Given the description of an element on the screen output the (x, y) to click on. 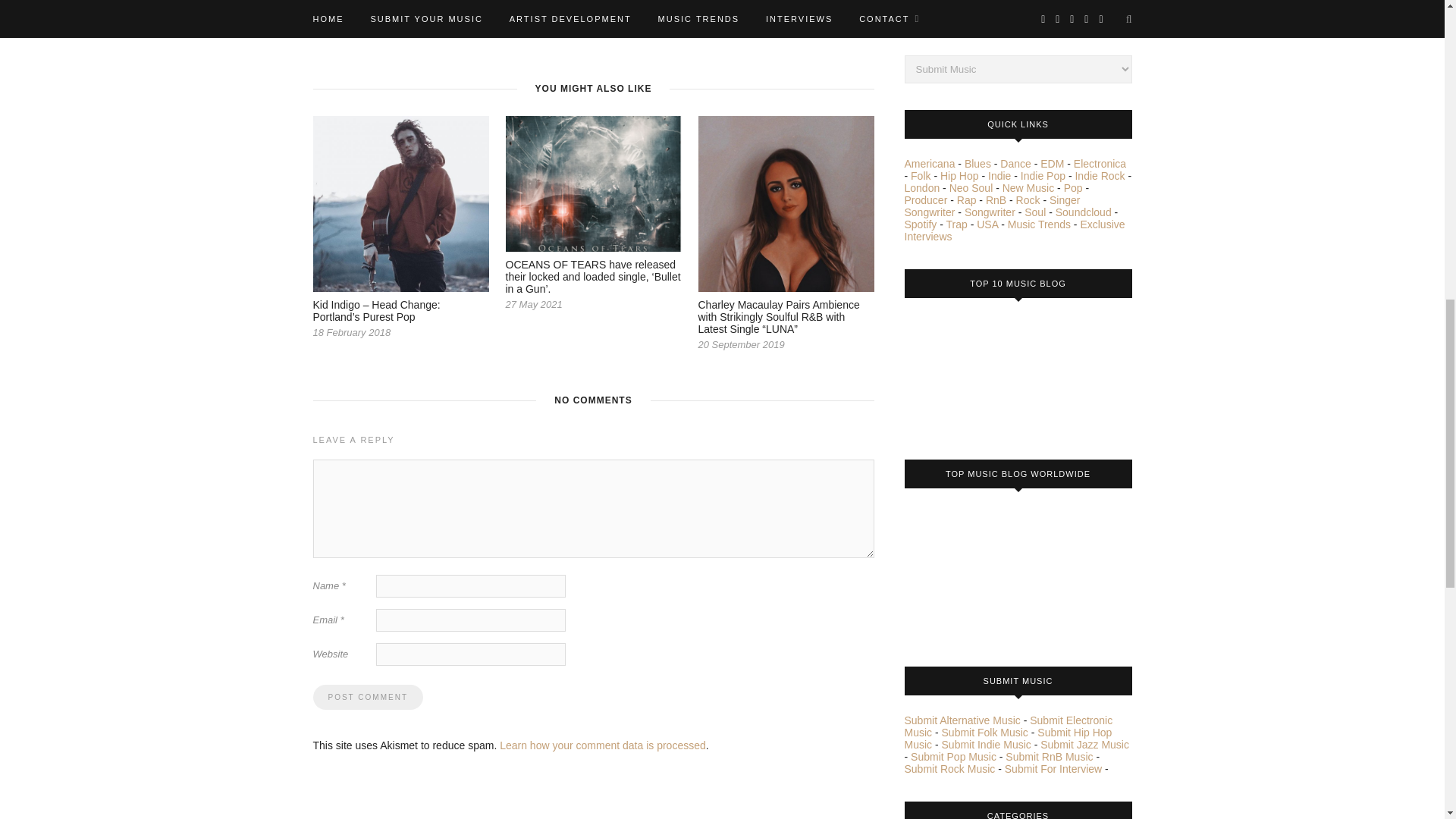
FUTURE POP (473, 25)
POP (584, 25)
POP SINGER SONGWRITER (661, 25)
ANNIE ELISE (343, 25)
SYNTHPOP (750, 25)
HYPER POP (537, 25)
Post Comment (367, 697)
Top 10 Music Blog (960, 373)
DREAM-POP (408, 25)
